Given the description of an element on the screen output the (x, y) to click on. 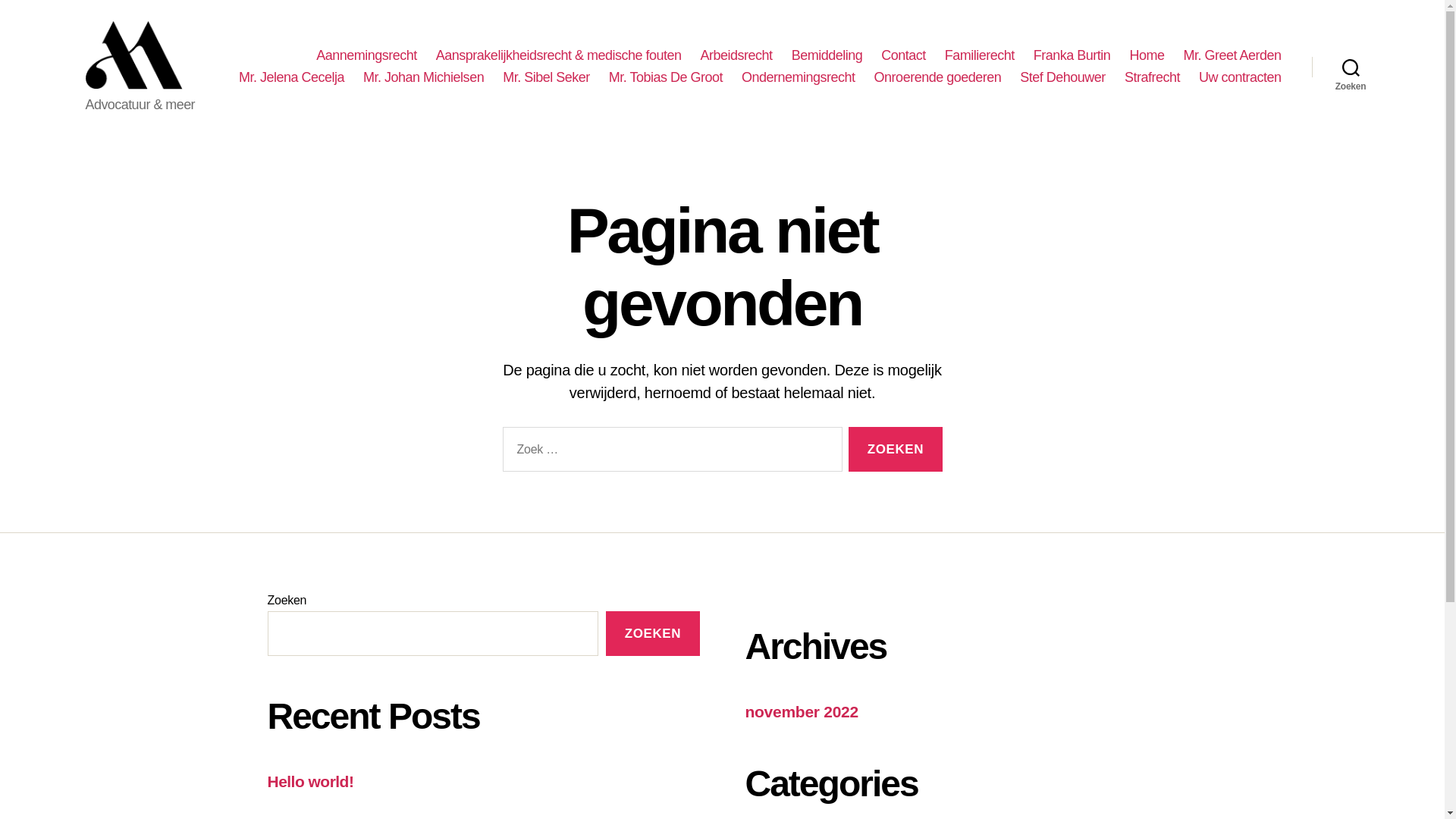
Stef Dehouwer Element type: text (1062, 77)
Aannemingsrecht Element type: text (366, 55)
Uw contracten Element type: text (1239, 77)
Zoeken Element type: text (894, 448)
Home Element type: text (1146, 55)
Zoeken Element type: text (1350, 66)
ZOEKEN Element type: text (652, 633)
Strafrecht Element type: text (1151, 77)
Onroerende goederen Element type: text (937, 77)
Mr. Sibel Seker Element type: text (545, 77)
november 2022 Element type: text (800, 711)
Arbeidsrecht Element type: text (736, 55)
Mr. Tobias De Groot Element type: text (665, 77)
Ondernemingsrecht Element type: text (798, 77)
Bemiddeling Element type: text (826, 55)
Contact Element type: text (903, 55)
Hello world! Element type: text (309, 781)
Franka Burtin Element type: text (1071, 55)
Mr. Greet Aerden Element type: text (1231, 55)
Mr. Jelena Cecelja Element type: text (291, 77)
Mr. Johan Michielsen Element type: text (423, 77)
Familierecht Element type: text (979, 55)
Aansprakelijkheidsrecht & medische fouten Element type: text (558, 55)
